Given the description of an element on the screen output the (x, y) to click on. 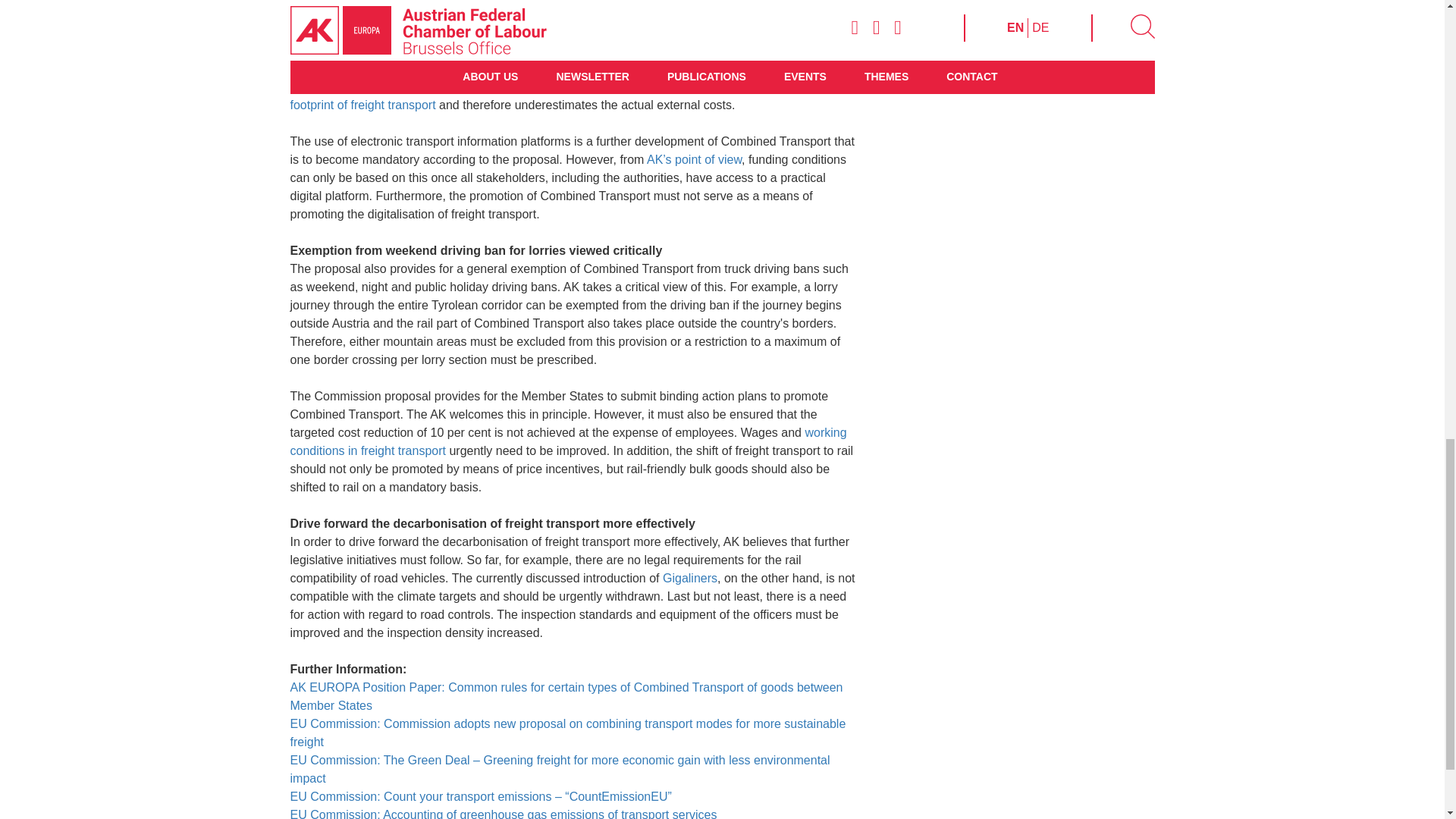
EU Commission: The Green Deal (381, 759)
Gigaliners (689, 577)
working conditions in freight transport (567, 441)
CountEmissionEU (410, 86)
entire carbon footprint of freight transport (558, 95)
